Given the description of an element on the screen output the (x, y) to click on. 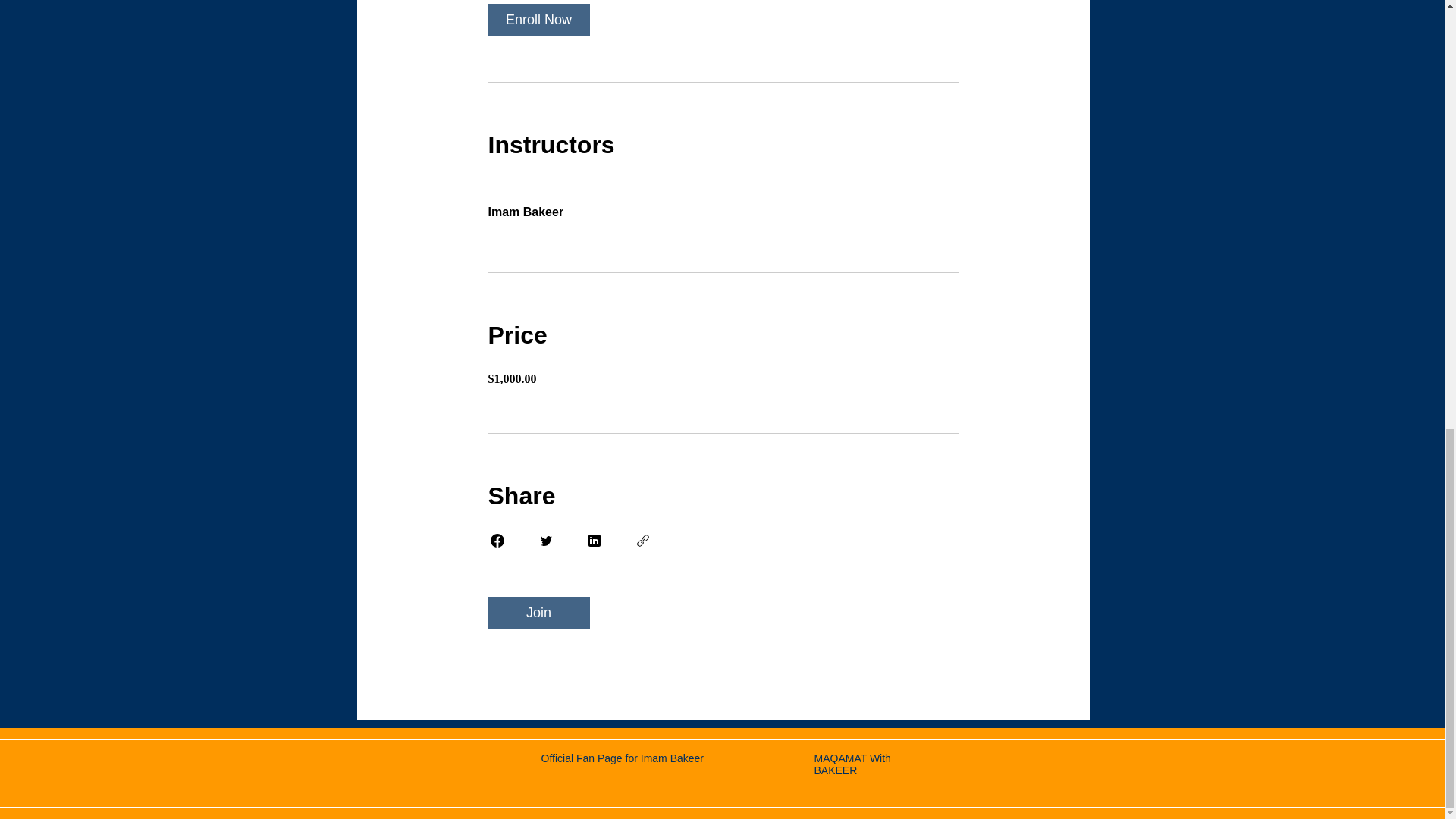
Join (538, 613)
Imam Bakeer (722, 203)
Enroll Now (538, 20)
